Given the description of an element on the screen output the (x, y) to click on. 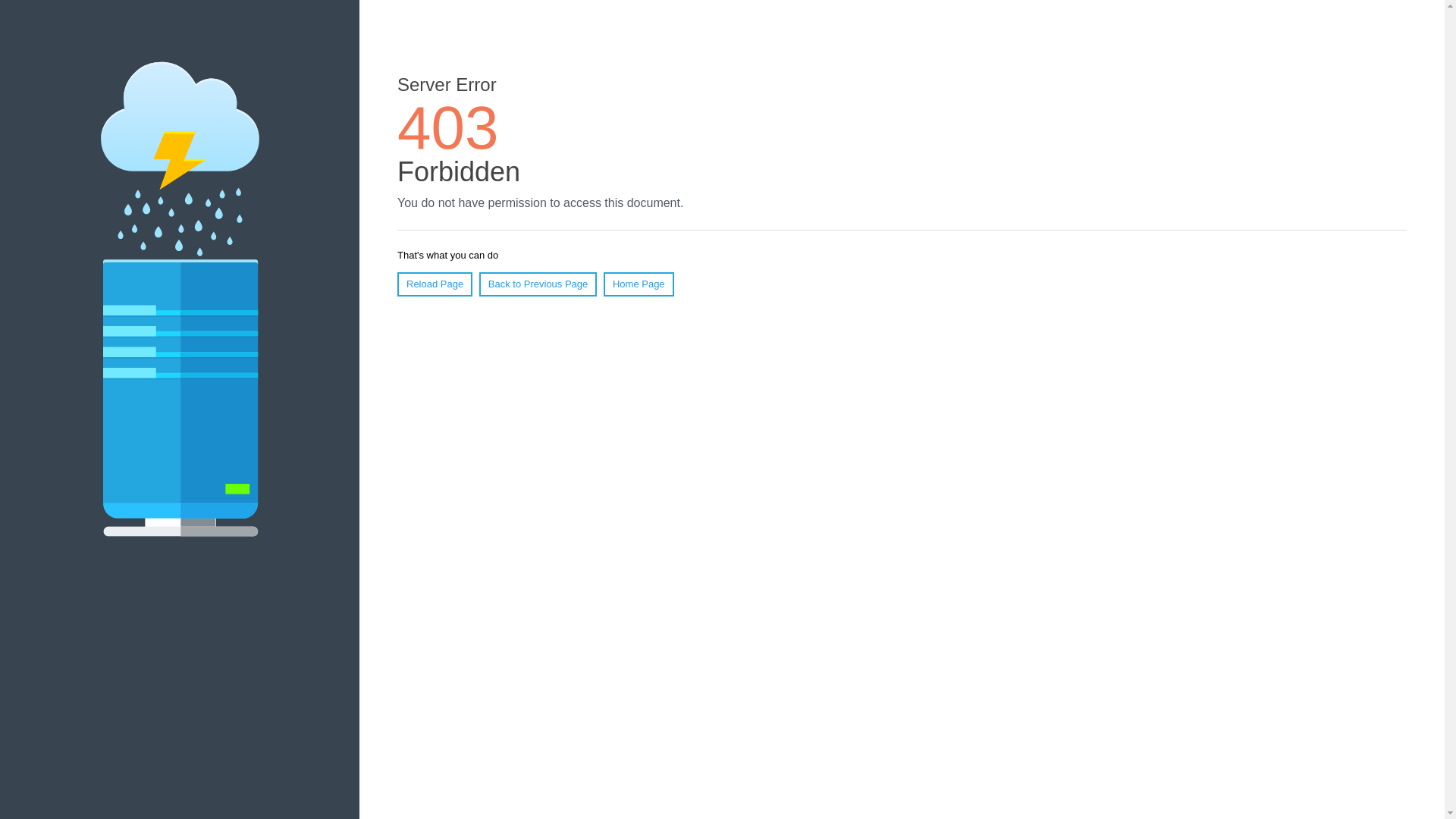
Reload Page Element type: text (434, 284)
Home Page Element type: text (638, 284)
Back to Previous Page Element type: text (538, 284)
